Given the description of an element on the screen output the (x, y) to click on. 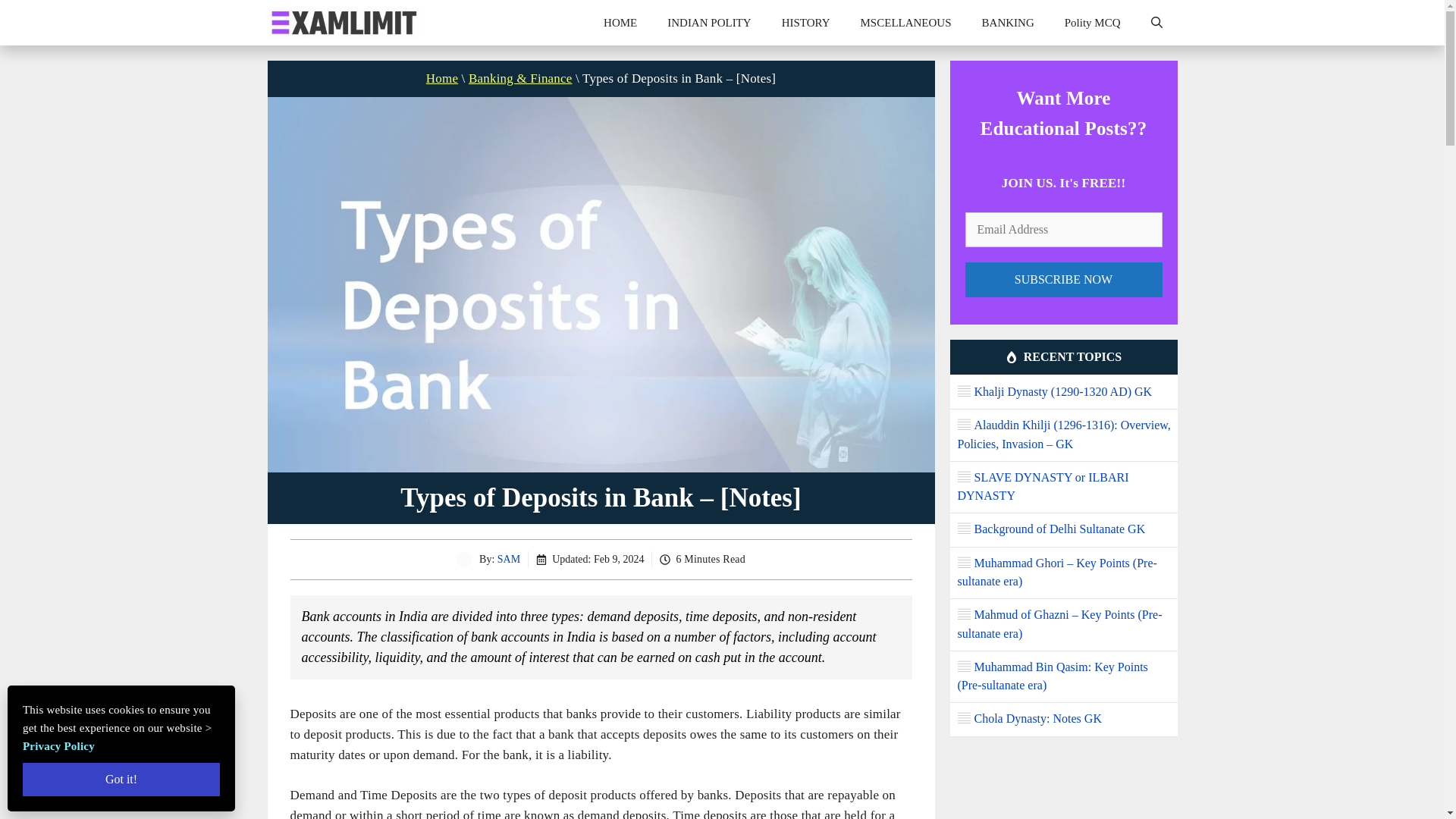
BANKING (1007, 22)
ExamLimiT (342, 22)
HISTORY (806, 22)
Polity MCQ (1092, 22)
Home (442, 78)
HOME (620, 22)
INDIAN POLITY (708, 22)
SUBSCRIBE NOW (1062, 279)
MSCELLANEOUS (905, 22)
SAM (508, 559)
